Given the description of an element on the screen output the (x, y) to click on. 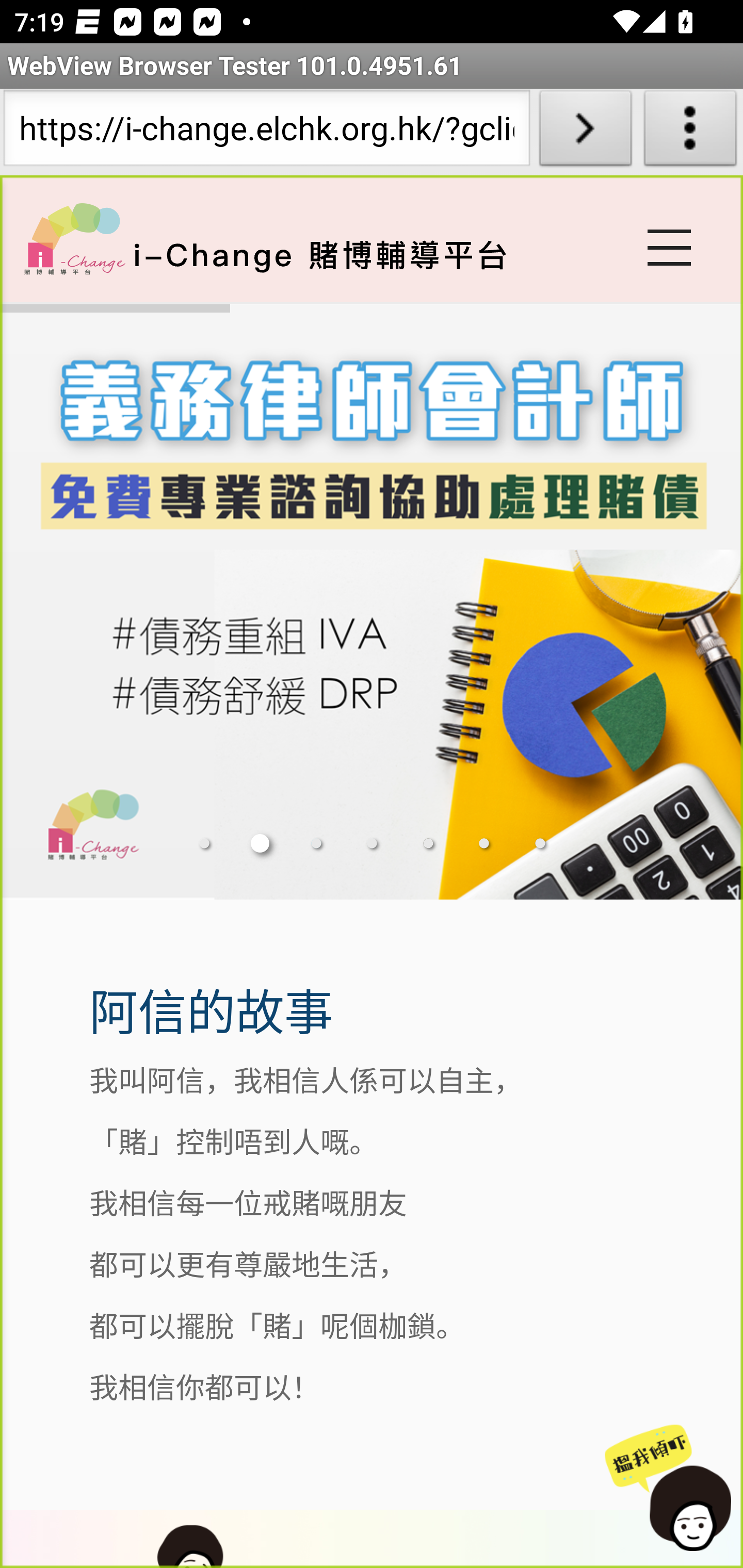
Load URL (585, 132)
About WebView (690, 132)
Home (74, 238)
Chat Now (670, 1488)
